Given the description of an element on the screen output the (x, y) to click on. 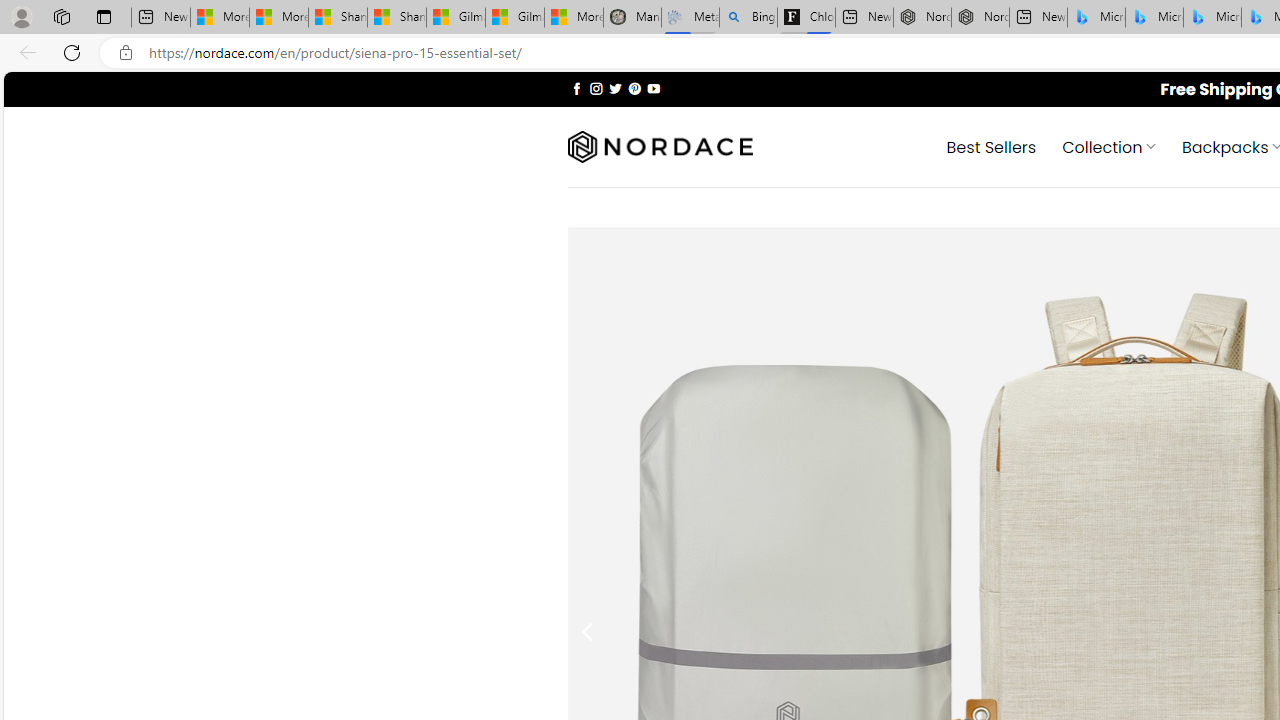
Follow on Facebook (576, 88)
Bing Real Estate - Home sales and rental listings (747, 17)
Follow on Twitter (615, 88)
Microsoft Bing Travel - Stays in Bangkok, Bangkok, Thailand (1154, 17)
  Best Sellers (990, 146)
Microsoft Bing Travel - Shangri-La Hotel Bangkok (1212, 17)
Follow on Pinterest (634, 88)
